Given the description of an element on the screen output the (x, y) to click on. 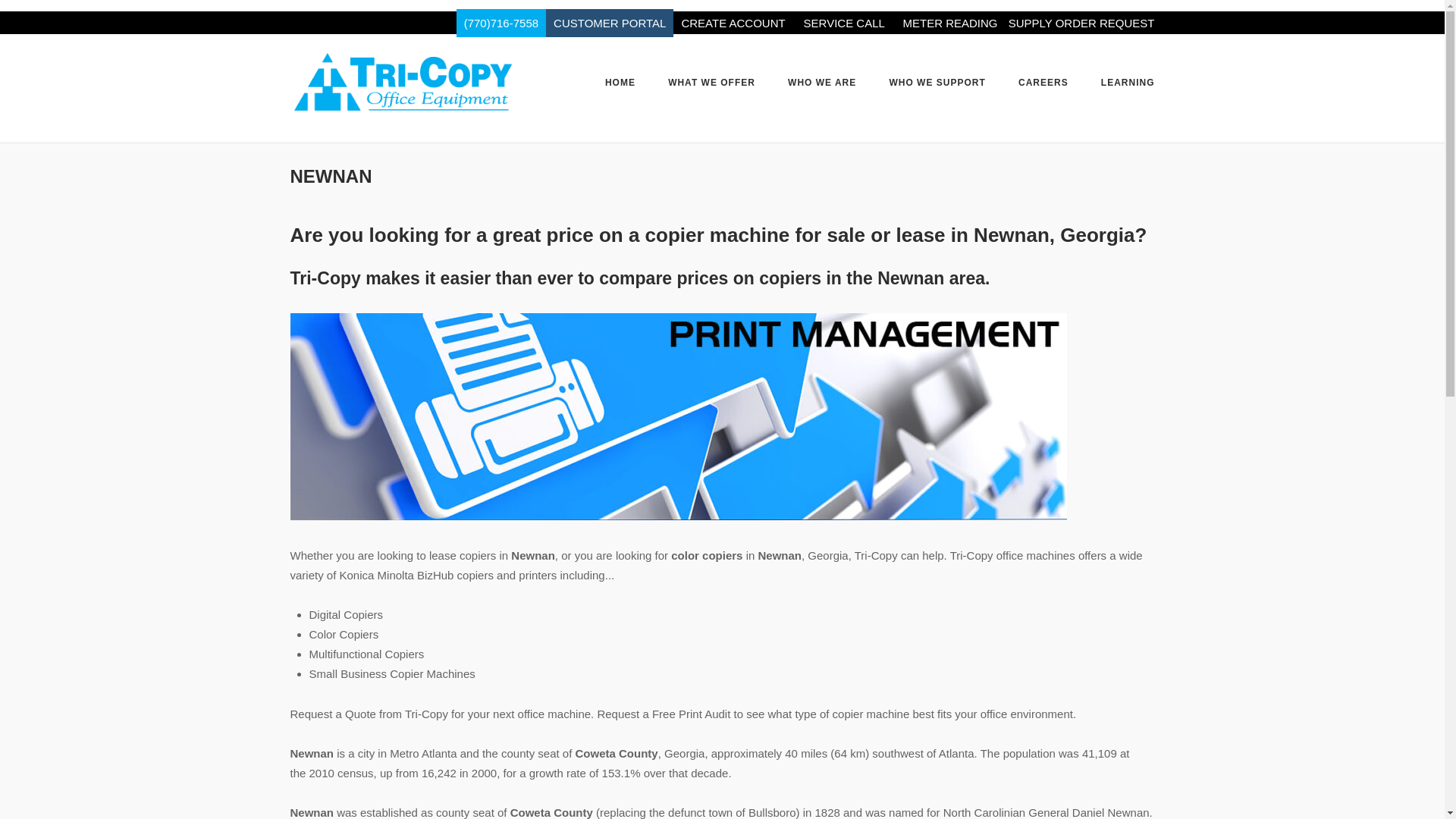
CREATE ACCOUNT (733, 22)
CAREERS (1042, 83)
WHAT WE OFFER (711, 83)
HOME (619, 84)
LEARNING (1127, 83)
Supply Order Request (1081, 22)
WHO WE SUPPORT (936, 84)
WHO WE ARE (821, 83)
Service Call (845, 22)
Meter Reading (951, 22)
SERVICE CALL (845, 22)
SUPPLY ORDER REQUEST (1081, 22)
METER READING (951, 22)
CUSTOMER PORTAL (609, 22)
